Given the description of an element on the screen output the (x, y) to click on. 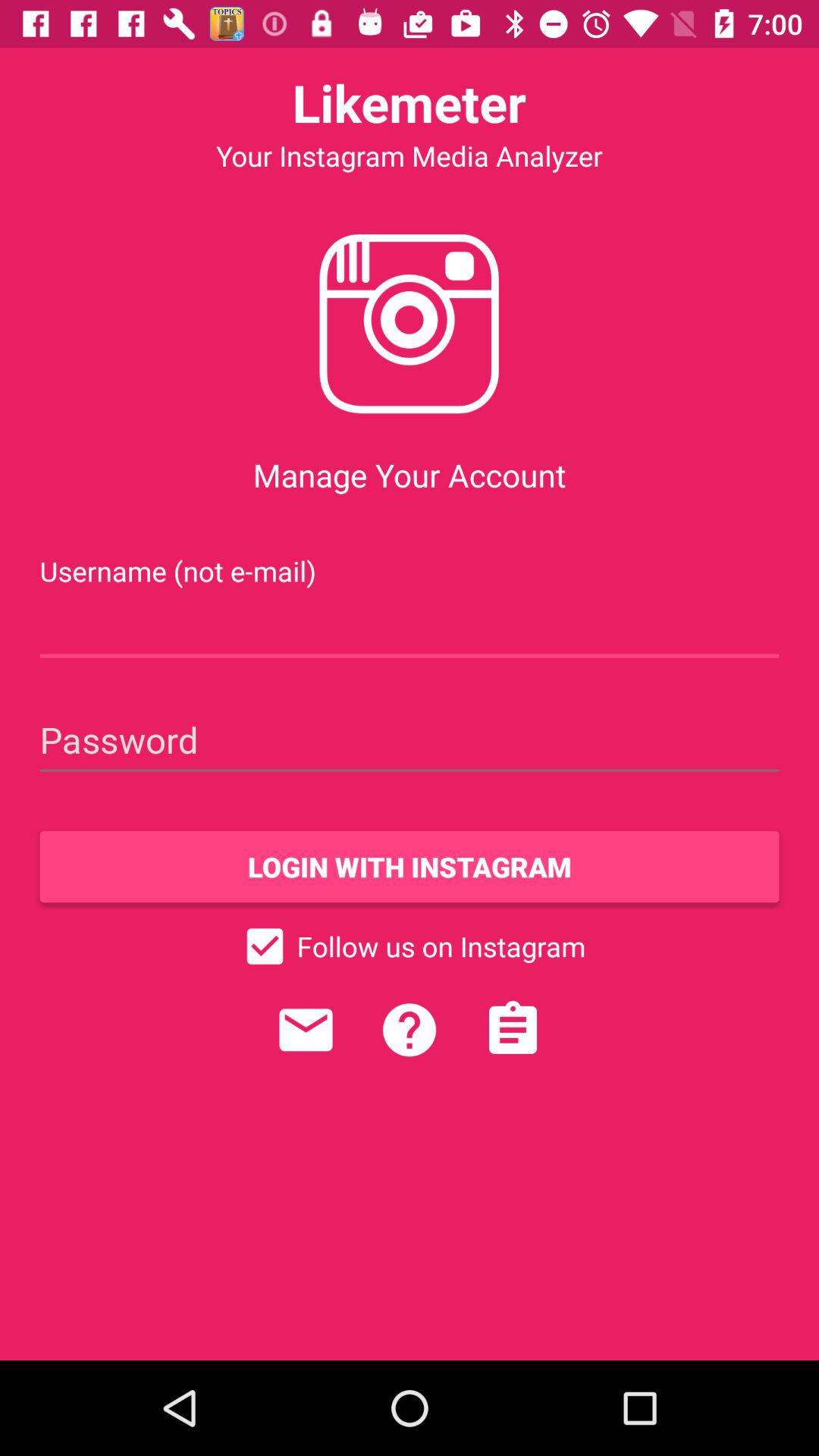
turn off the follow us on item (409, 946)
